Given the description of an element on the screen output the (x, y) to click on. 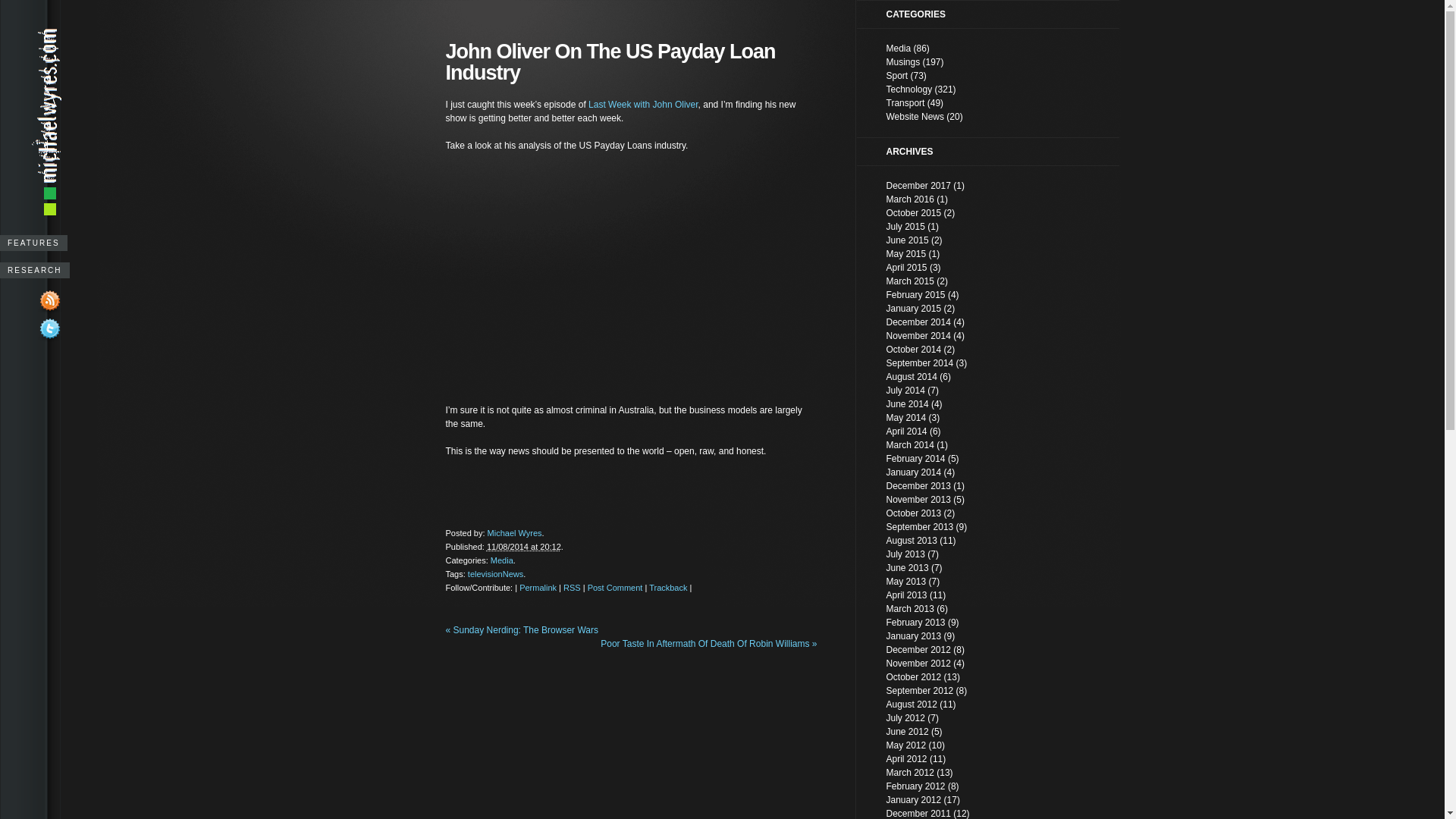
April 2014 Element type: text (905, 431)
Trackback Element type: text (668, 587)
RESEARCH Element type: text (34, 270)
June 2014 Element type: text (906, 403)
Sport Element type: text (896, 75)
April 2012 Element type: text (905, 758)
October 2015 Element type: text (913, 212)
June 2013 Element type: text (906, 567)
February 2014 Element type: text (914, 458)
June 2012 Element type: text (906, 731)
March 2013 Element type: text (909, 608)
July 2012 Element type: text (904, 717)
January 2014 Element type: text (913, 472)
November 2013 Element type: text (917, 499)
February 2013 Element type: text (914, 622)
FEATURES Element type: text (33, 243)
December 2014 Element type: text (917, 321)
July 2015 Element type: text (904, 226)
televisionNews Element type: text (495, 573)
July 2014 Element type: text (904, 390)
Musings Element type: text (902, 61)
Website News Element type: text (914, 116)
June 2015 Element type: text (906, 240)
Transport Element type: text (904, 102)
September 2013 Element type: text (919, 526)
February 2015 Element type: text (914, 294)
May 2014 Element type: text (905, 417)
December 2012 Element type: text (917, 649)
Media Element type: text (897, 48)
Media Element type: text (501, 559)
November 2014 Element type: text (917, 335)
January 2013 Element type: text (913, 635)
October 2014 Element type: text (913, 349)
Permalink Element type: text (537, 587)
April 2013 Element type: text (905, 594)
January 2012 Element type: text (913, 799)
Michael Wyres Element type: text (514, 532)
December 2013 Element type: text (917, 485)
October 2013 Element type: text (913, 513)
November 2012 Element type: text (917, 663)
March 2012 Element type: text (909, 772)
March 2016 Element type: text (909, 199)
February 2012 Element type: text (914, 786)
December 2017 Element type: text (917, 185)
RSS Element type: text (571, 587)
michaelwyres.com.au Element type: hover (47, 210)
May 2013 Element type: text (905, 581)
September 2012 Element type: text (919, 690)
August 2012 Element type: text (910, 704)
August 2013 Element type: text (910, 540)
October 2012 Element type: text (913, 676)
August 2014 Element type: text (910, 376)
January 2015 Element type: text (913, 308)
September 2014 Element type: text (919, 362)
March 2015 Element type: text (909, 281)
April 2015 Element type: text (905, 267)
July 2013 Element type: text (904, 554)
March 2014 Element type: text (909, 444)
Technology Element type: text (908, 89)
Post Comment Element type: text (615, 587)
May 2015 Element type: text (905, 253)
May 2012 Element type: text (905, 745)
Last Week with John Oliver Element type: text (643, 104)
